Given the description of an element on the screen output the (x, y) to click on. 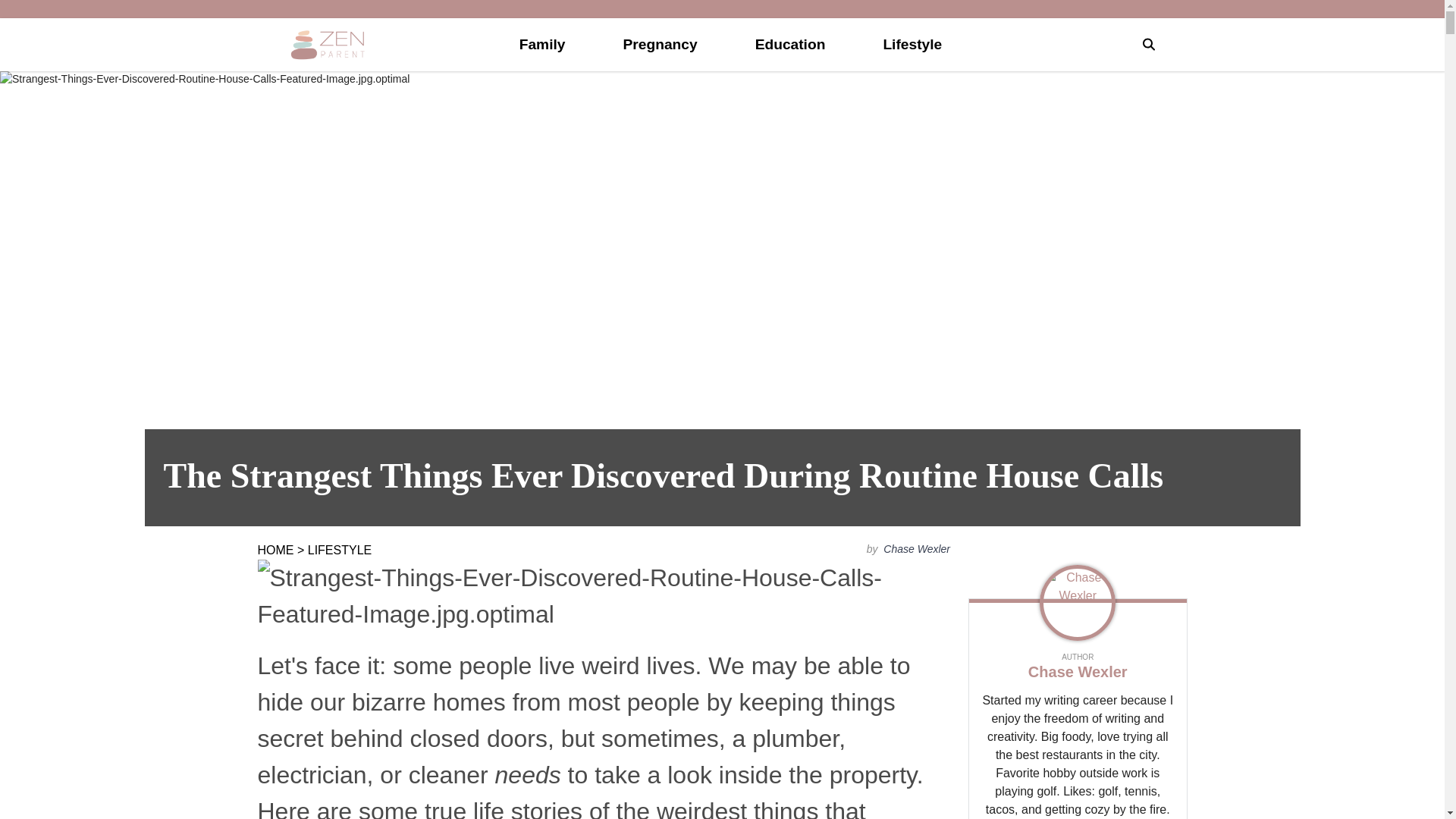
LIFESTYLE (339, 549)
Chase Wexler (915, 548)
HOME (275, 549)
